Given the description of an element on the screen output the (x, y) to click on. 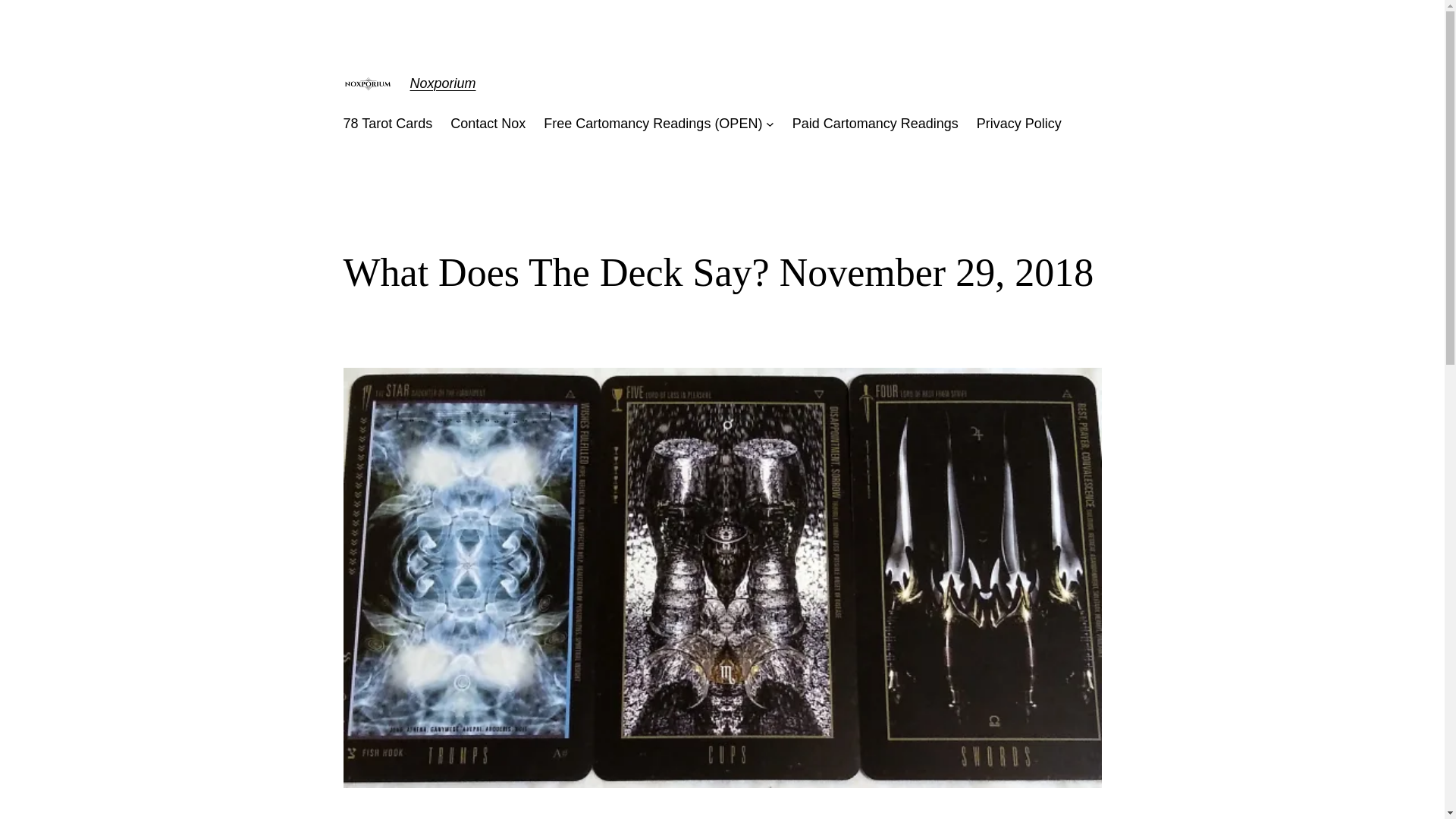
Contact Nox (487, 124)
Noxporium (442, 83)
Privacy Policy (1018, 124)
78 Tarot Cards (387, 124)
Paid Cartomancy Readings (875, 124)
